Given the description of an element on the screen output the (x, y) to click on. 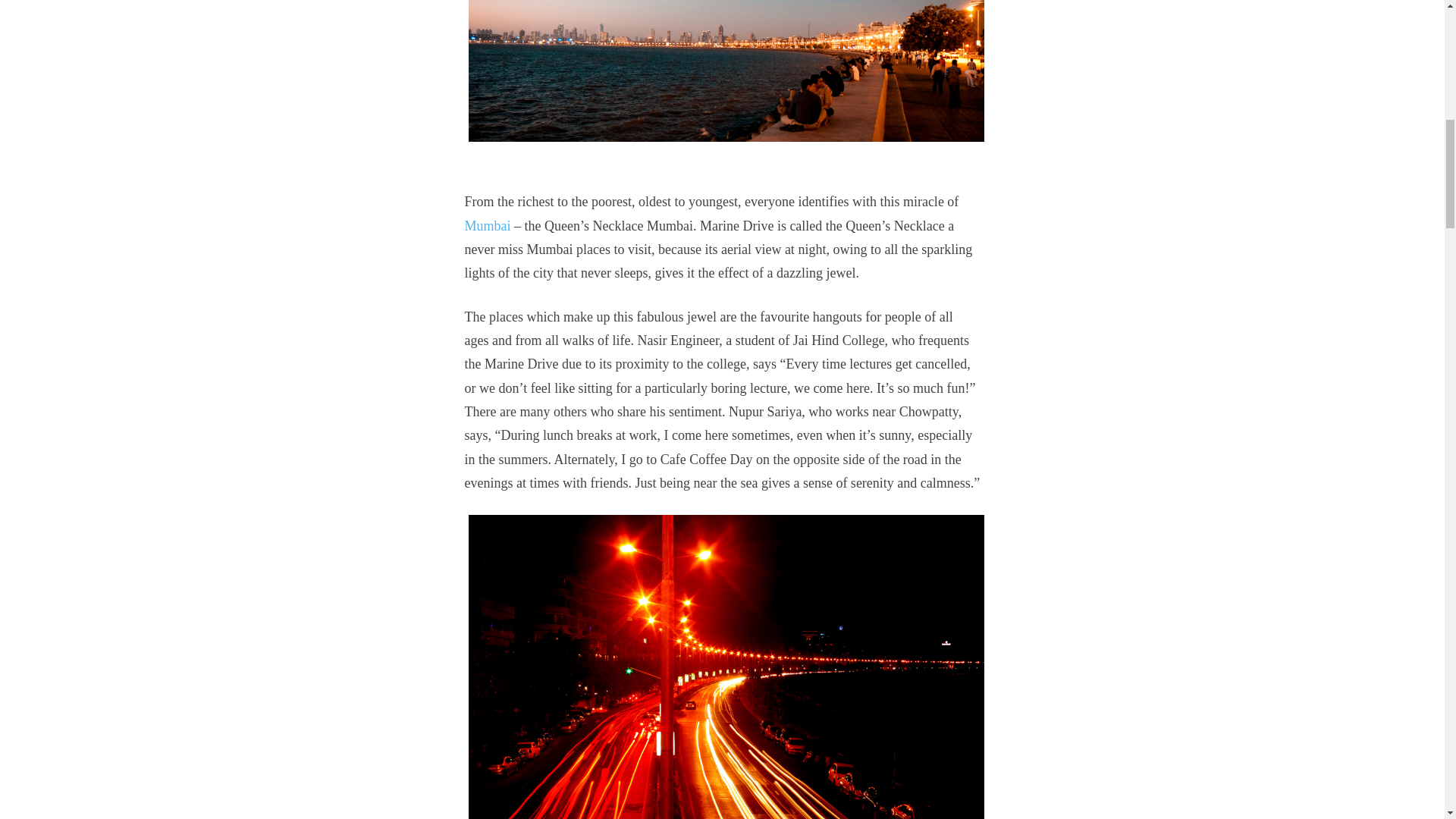
Mumbai (487, 225)
